Given the description of an element on the screen output the (x, y) to click on. 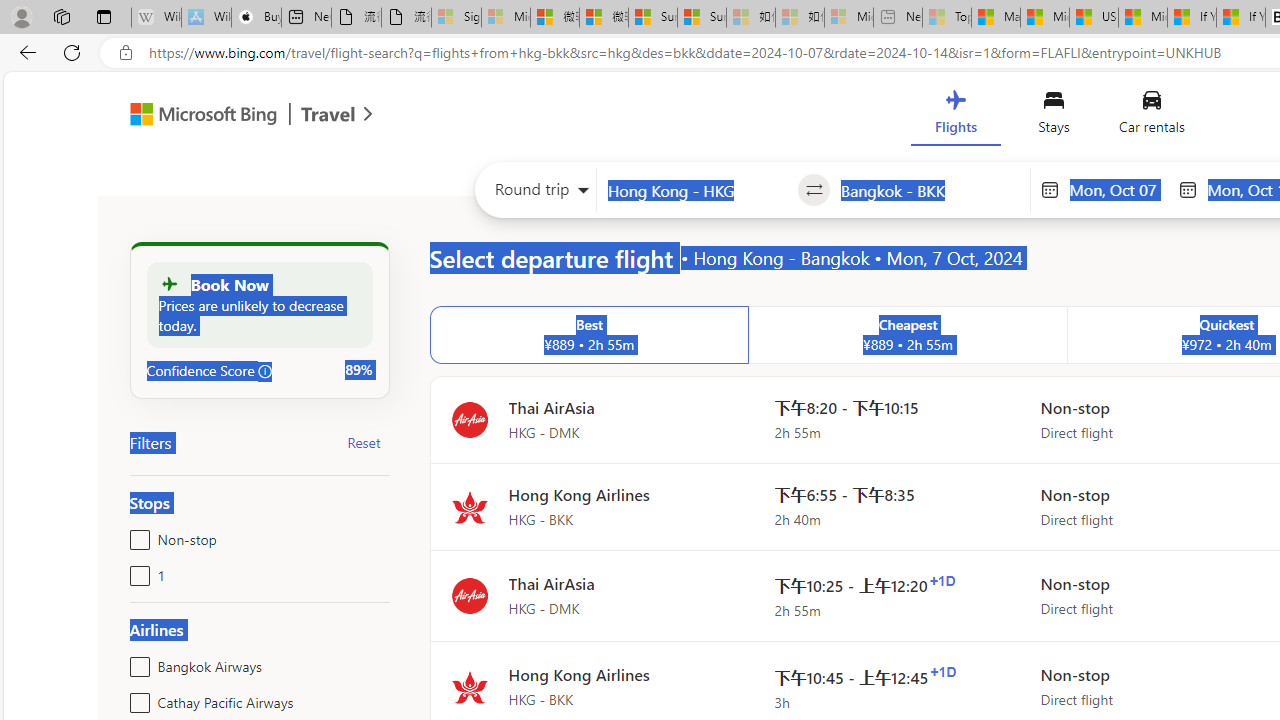
Info tooltip (265, 371)
1 (136, 571)
Going to? (930, 190)
Car rentals (1150, 116)
Leaving from? (697, 190)
Cathay Pacific Airways (136, 698)
Microsoft Bing (194, 116)
